Given the description of an element on the screen output the (x, y) to click on. 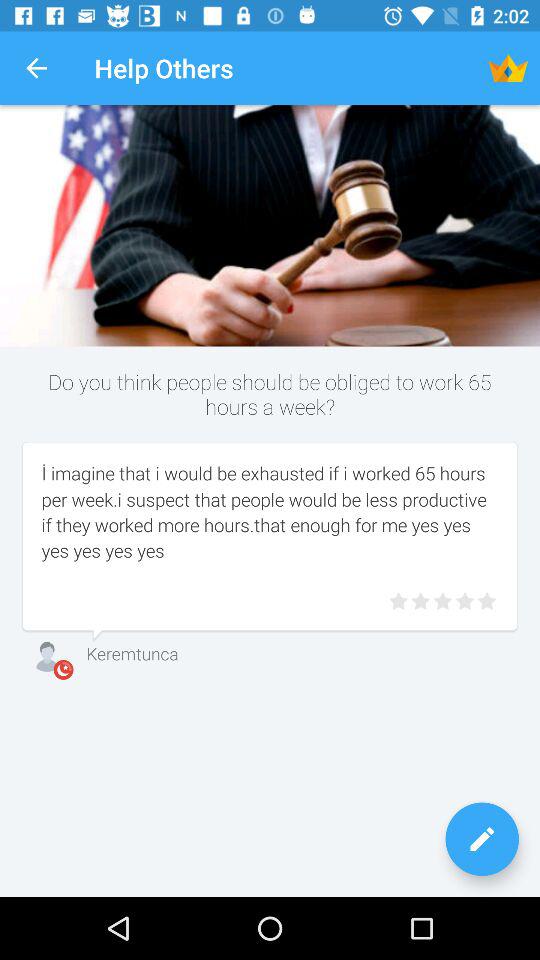
tap the item at the top right corner (508, 67)
